Given the description of an element on the screen output the (x, y) to click on. 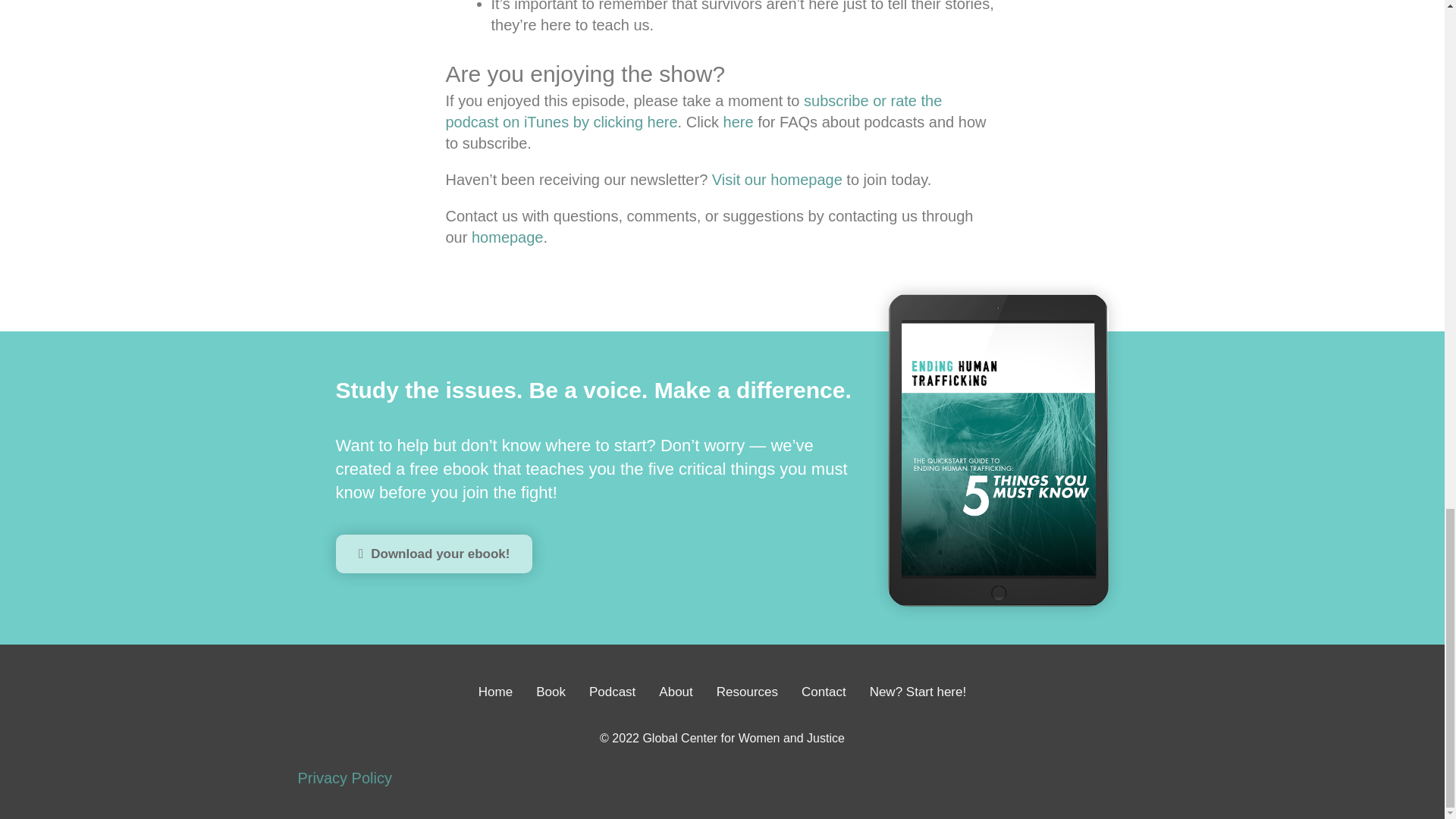
Download your ebook! (432, 553)
Privacy Policy  (344, 777)
homepage (507, 237)
Resources (746, 692)
Visit our homepage (777, 179)
Home (495, 692)
here (738, 121)
Contact (823, 692)
Podcast (611, 692)
About (676, 692)
